Given the description of an element on the screen output the (x, y) to click on. 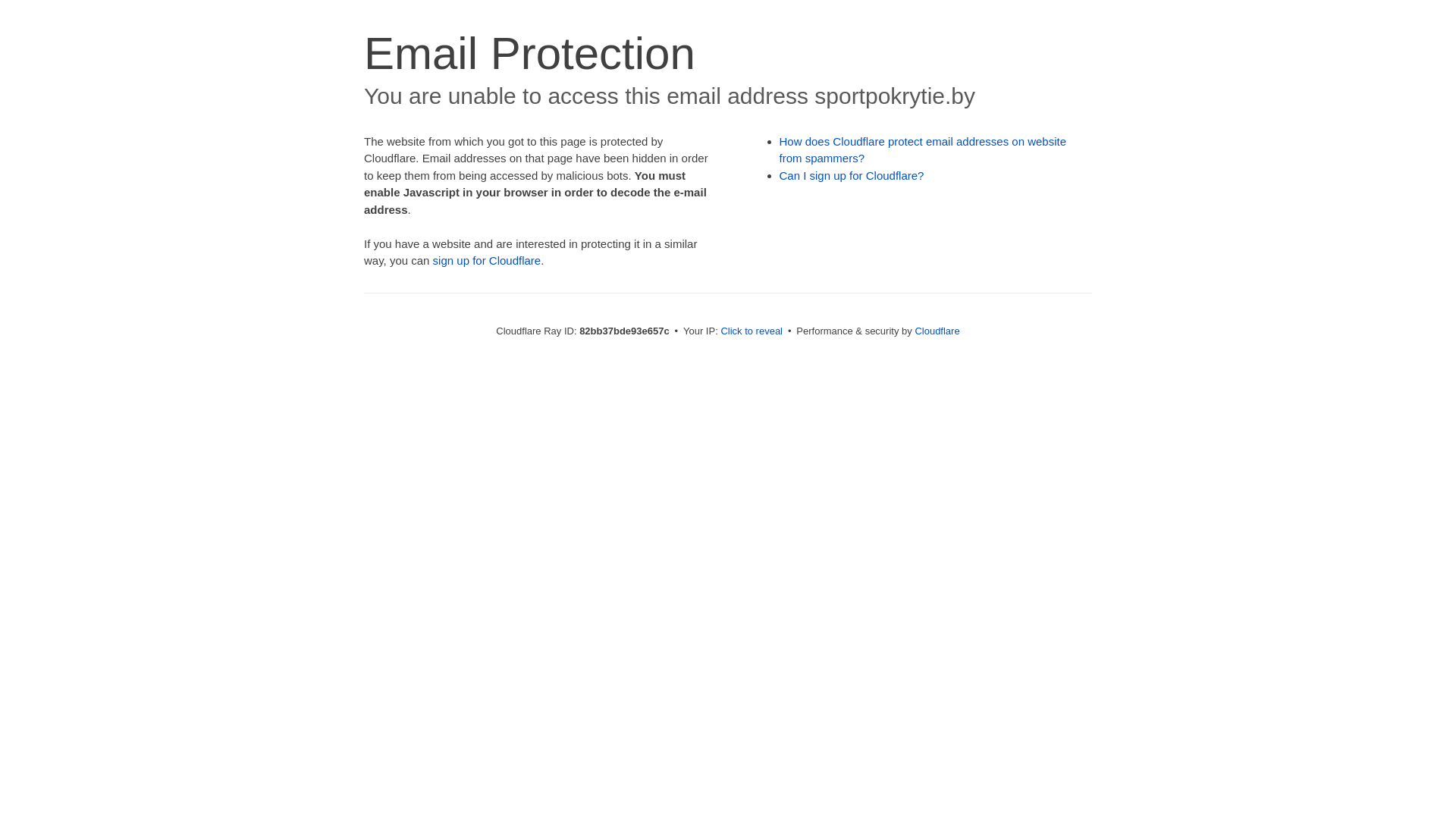
sign up for Cloudflare Element type: text (487, 260)
Cloudflare Element type: text (936, 330)
Click to reveal Element type: text (751, 330)
Can I sign up for Cloudflare? Element type: text (851, 175)
